Given the description of an element on the screen output the (x, y) to click on. 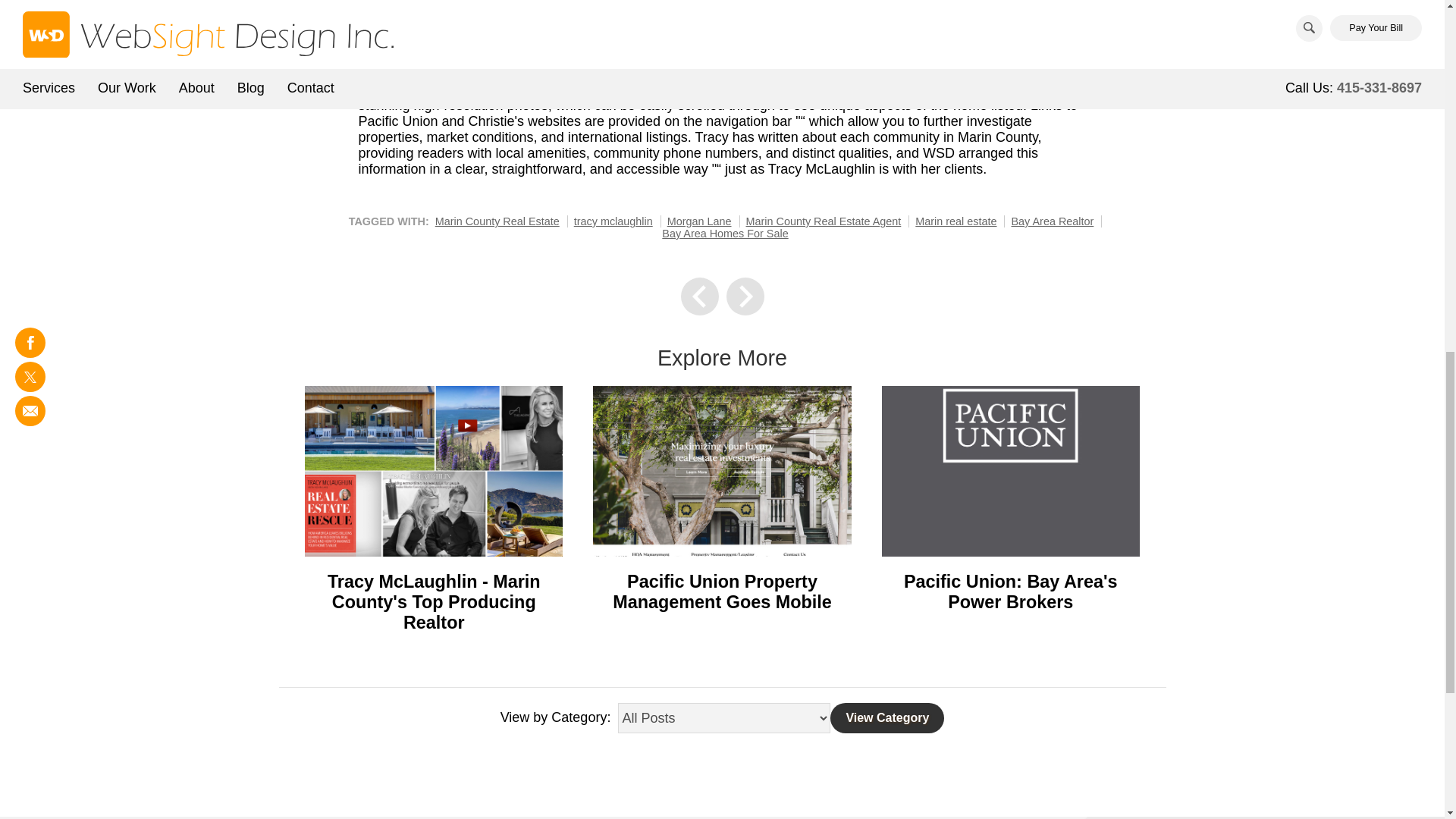
Morgan Lane (699, 221)
View Category (886, 717)
Marin County Real Estate Agent (823, 221)
Tracy McLaughlin (433, 470)
Pacific Union Property Management Goes Mobile (721, 591)
WebSight Design, Inc (714, 65)
Bay Area Realtor (1051, 221)
Marin real estate (955, 221)
Tracy McLaughlin - Marin County's Top Producing Realtor (433, 601)
Marin County Real Estate (497, 221)
Pacific Union logo (1011, 470)
Bay Area Homes For Sale (724, 233)
Blog Post Categories (723, 717)
Opens in a new window (773, 73)
tracy mclaughlin (612, 221)
